Given the description of an element on the screen output the (x, y) to click on. 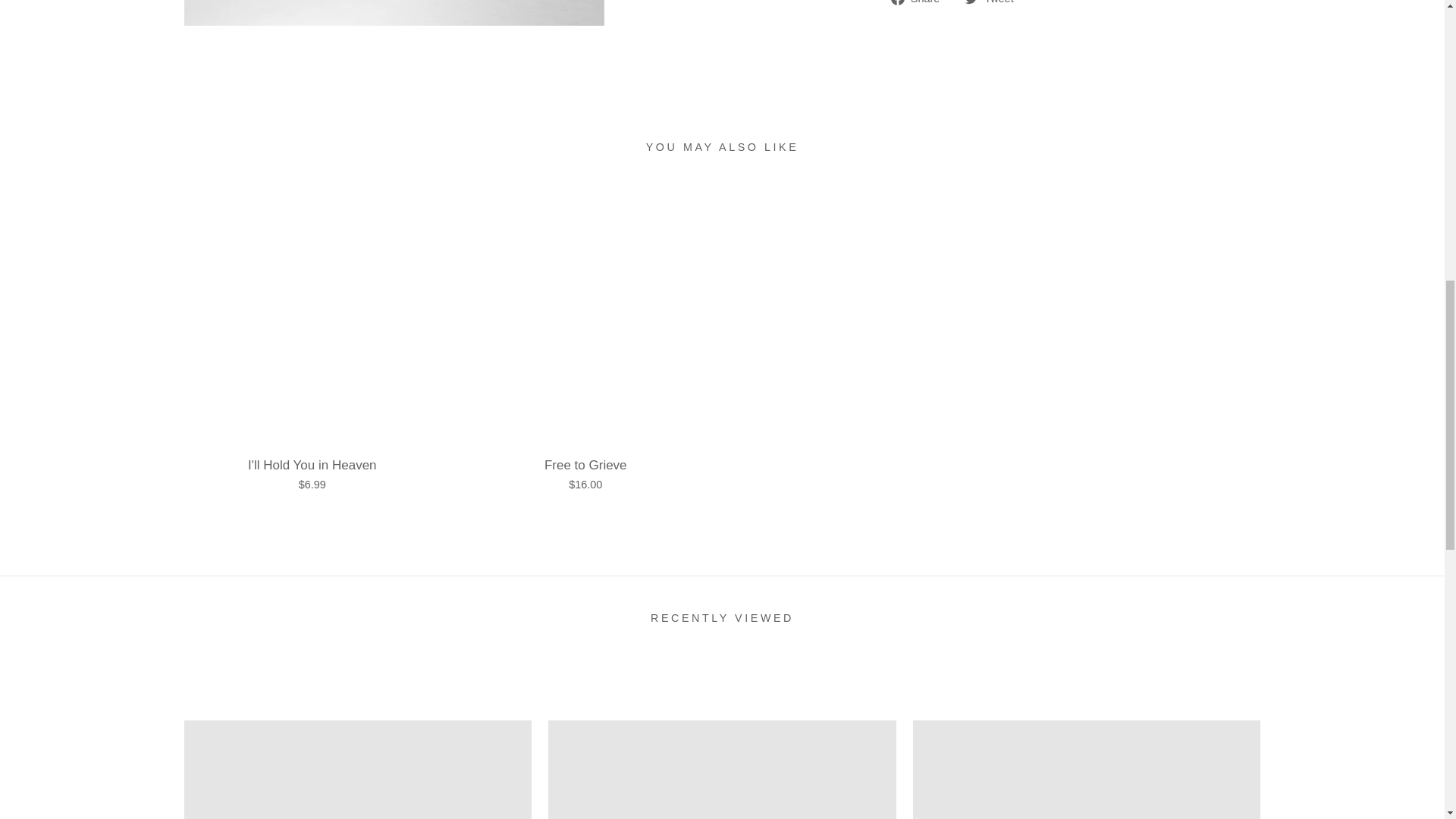
Tweet on Twitter (994, 3)
Share on Facebook (920, 3)
twitter (970, 2)
